Given the description of an element on the screen output the (x, y) to click on. 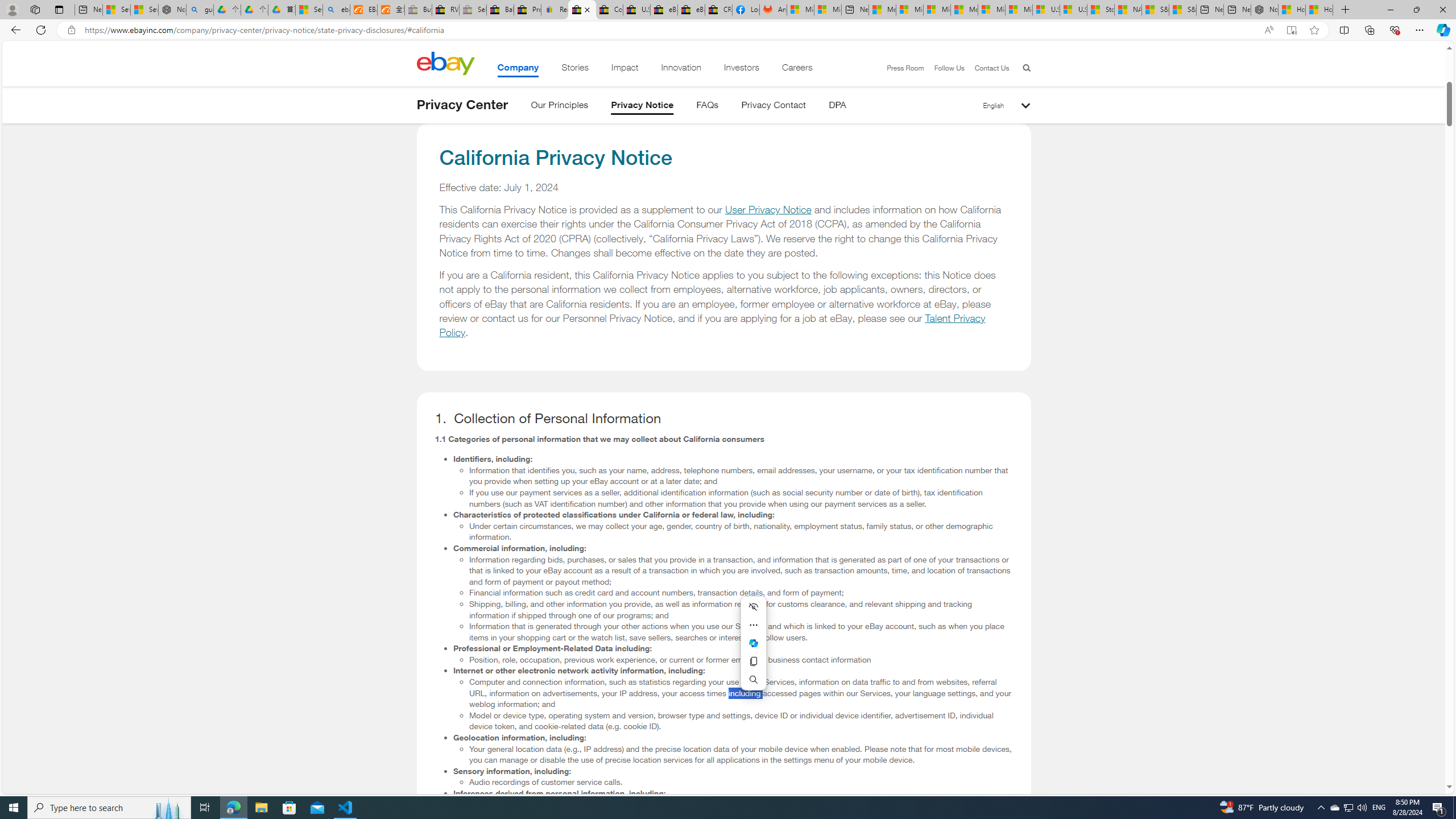
App bar (728, 29)
Enter Immersive Reader (F9) (1291, 29)
Press Room - eBay Inc. (527, 9)
Privacy Notice (642, 107)
Copy (753, 661)
More actions (753, 624)
